Given the description of an element on the screen output the (x, y) to click on. 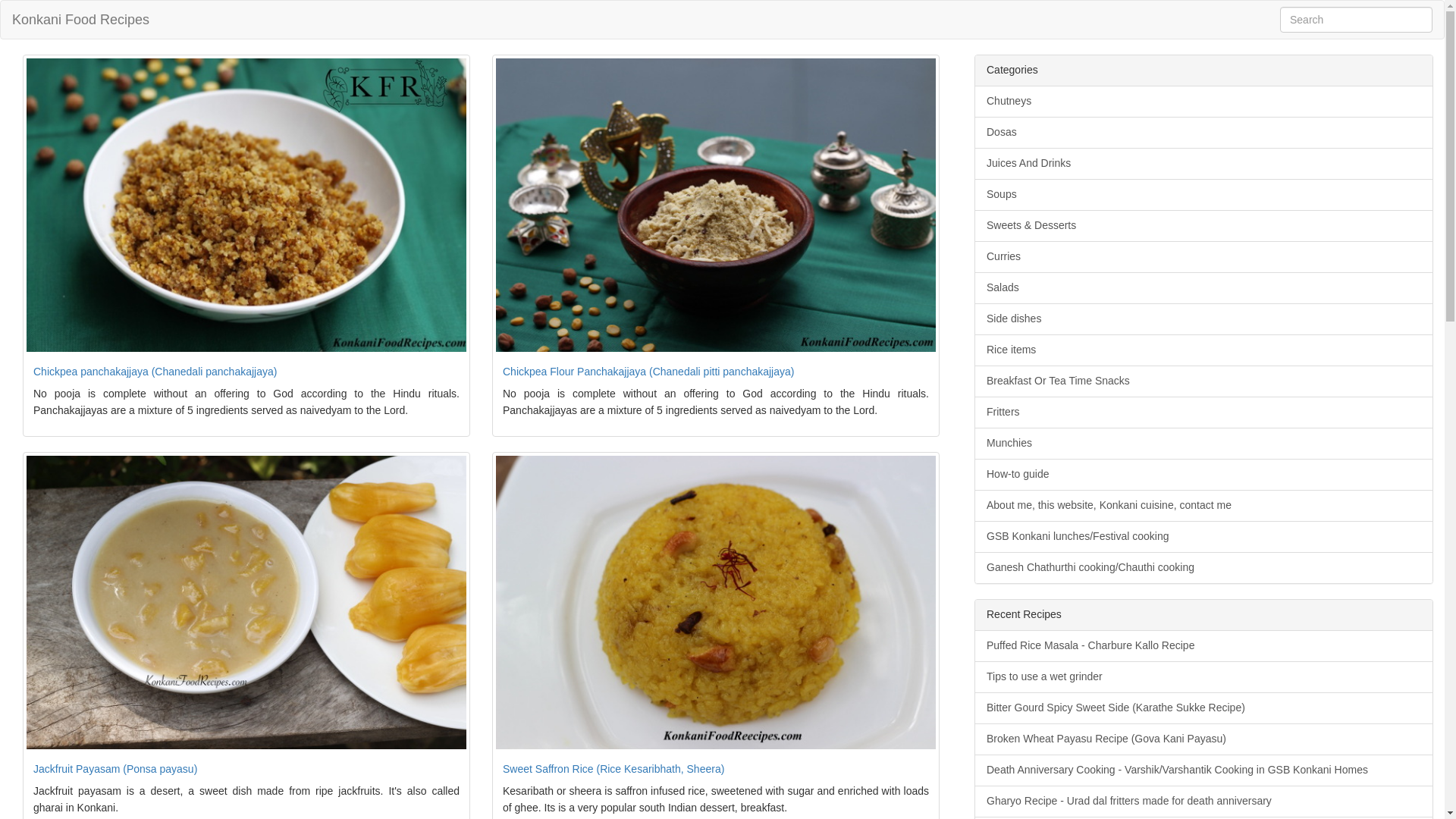
How-to guide (1203, 474)
Soups (1203, 194)
Fritters (1203, 412)
Salads (1203, 287)
Breakfast Or Tea Time Snacks (1203, 381)
Curries (1203, 256)
Munchies (1203, 443)
About me, this website, Konkani cuisine, contact me (1203, 505)
Dosas (1203, 132)
Tips to use a wet grinder (1203, 676)
Side dishes (1203, 318)
Konkani Food Recipes (80, 19)
Puffed Rice Masala - Charbure Kallo Recipe (1203, 645)
Chutneys (1203, 101)
Rice items (1203, 350)
